Given the description of an element on the screen output the (x, y) to click on. 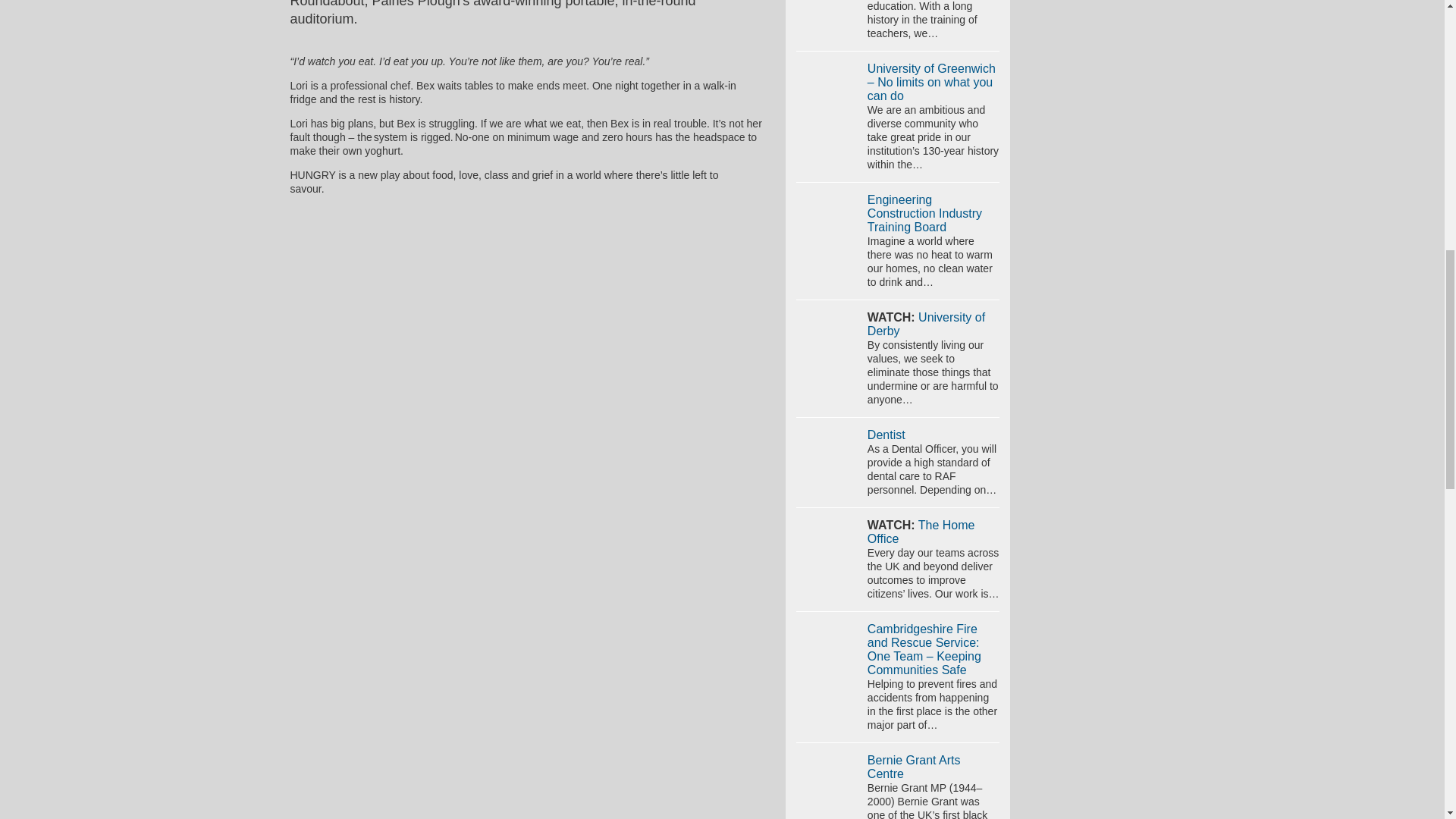
Engineering Construction Industry Training Board (924, 213)
